Given the description of an element on the screen output the (x, y) to click on. 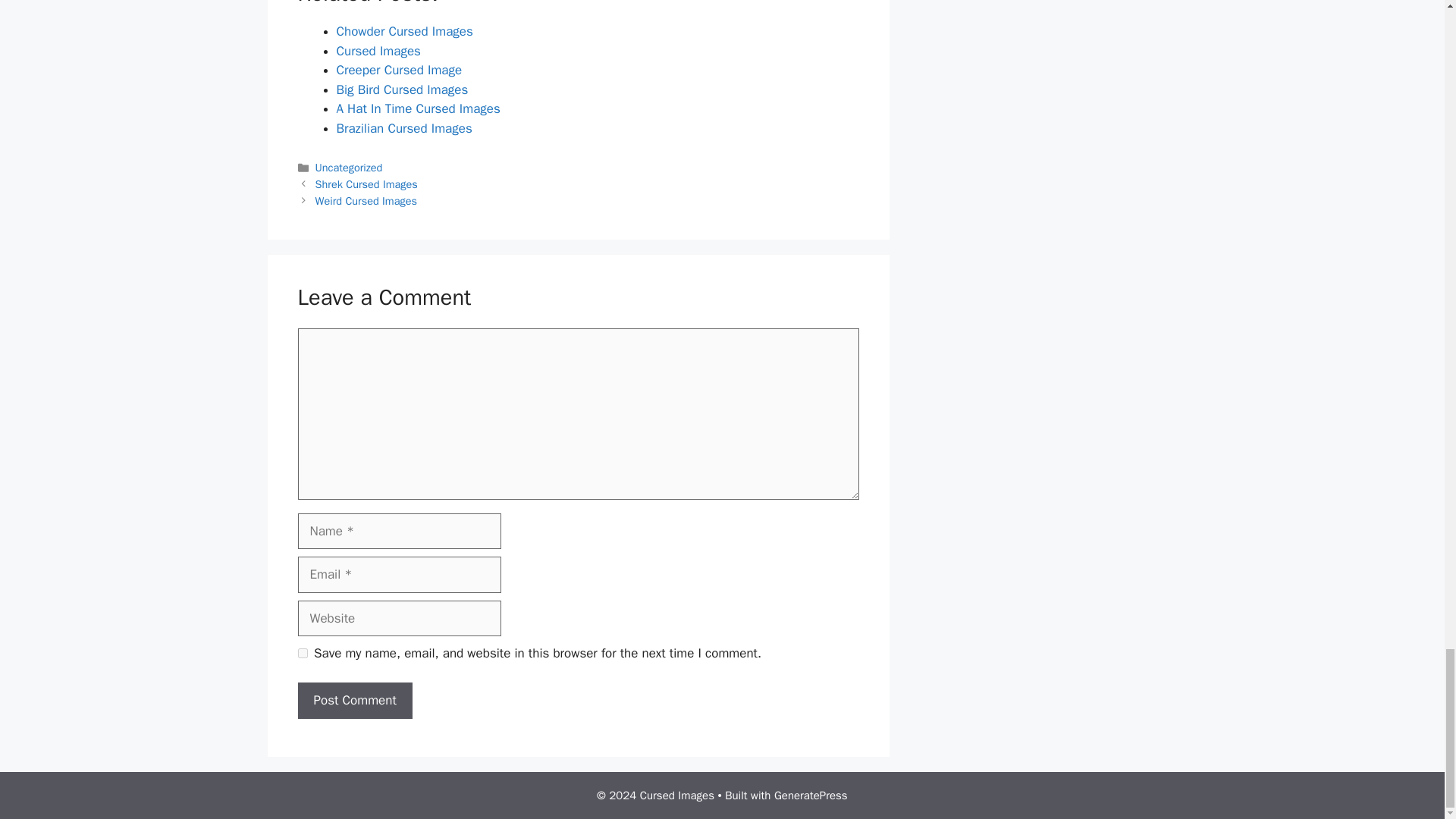
Cursed Images (378, 50)
Post Comment (354, 700)
Big Bird Cursed Images (402, 89)
Shrek Cursed Images (366, 183)
Post Comment (354, 700)
A Hat In Time Cursed Images (418, 108)
Chowder Cursed Images (404, 31)
Brazilian Cursed Images (403, 128)
Creeper Cursed Image (399, 69)
Uncategorized (348, 167)
GeneratePress (810, 795)
yes (302, 653)
Weird Cursed Images (365, 201)
